Given the description of an element on the screen output the (x, y) to click on. 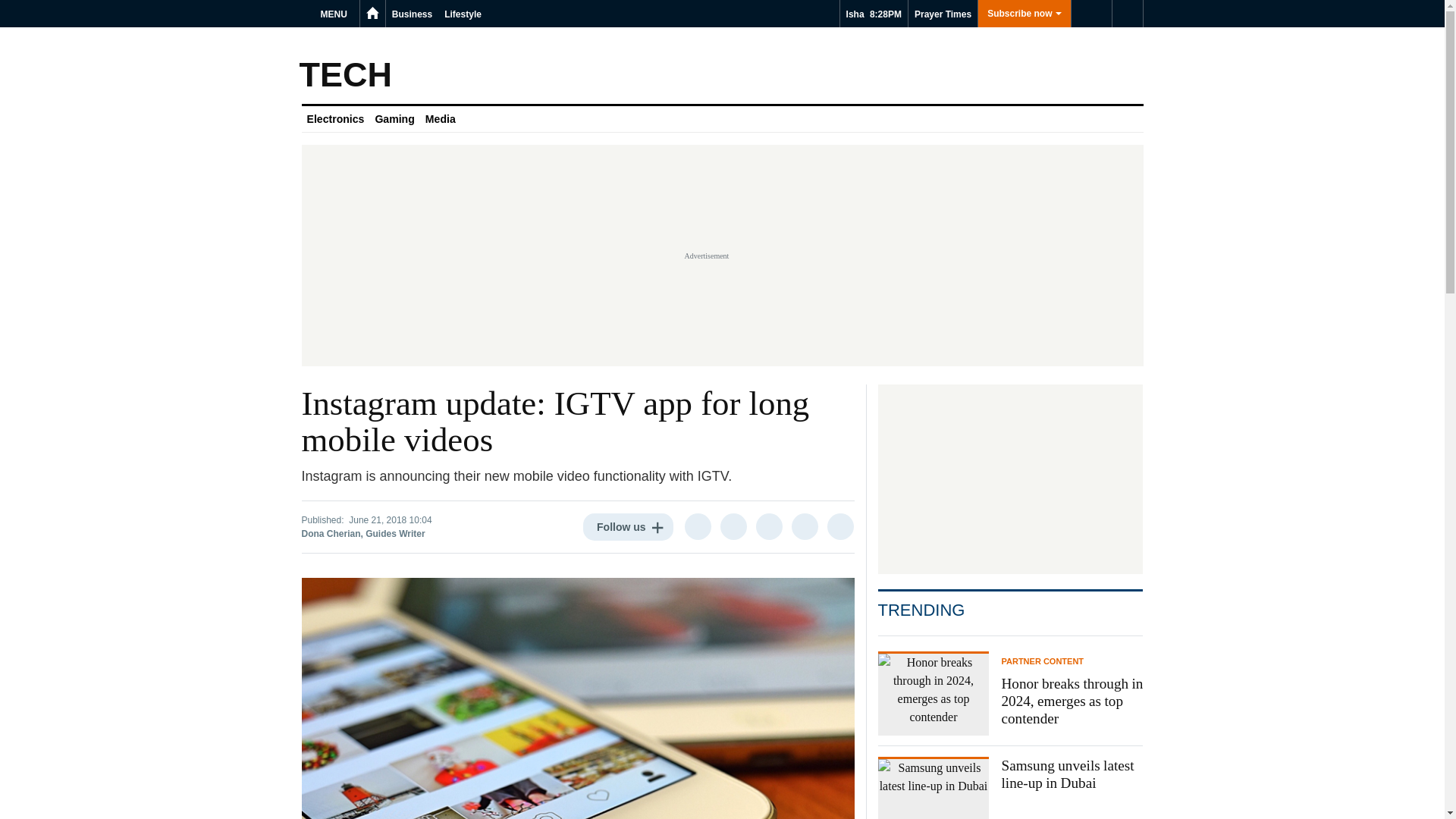
MENU (336, 13)
Isha 8:28PM (873, 13)
Subscribe now (1024, 13)
Lifestyle (462, 13)
Business (411, 13)
Prayer Times (942, 13)
